Given the description of an element on the screen output the (x, y) to click on. 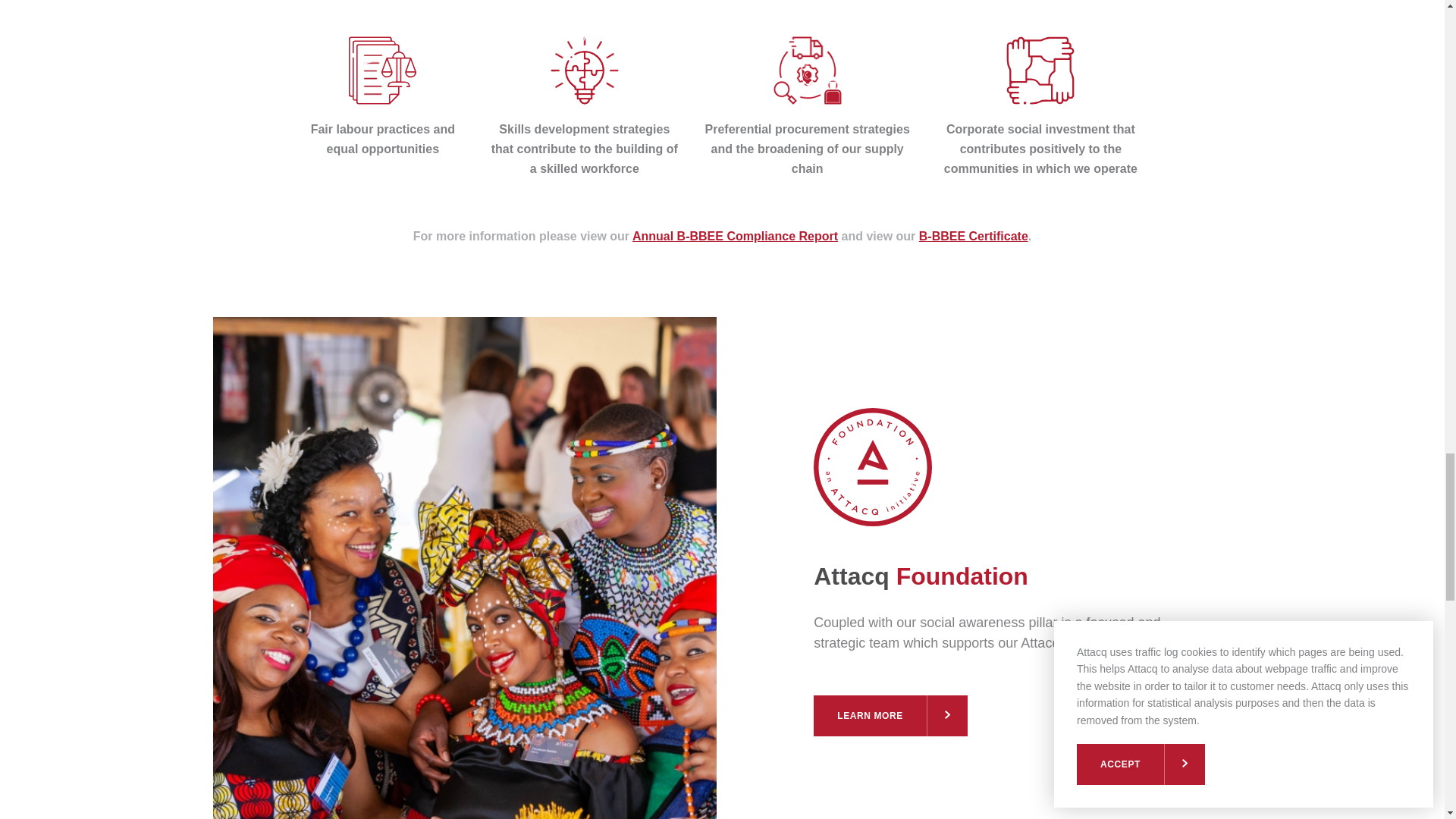
B-BBEE Certificate (972, 236)
LEARN MORE (890, 715)
Annual B-BBEE Compliance Report (734, 236)
